Given the description of an element on the screen output the (x, y) to click on. 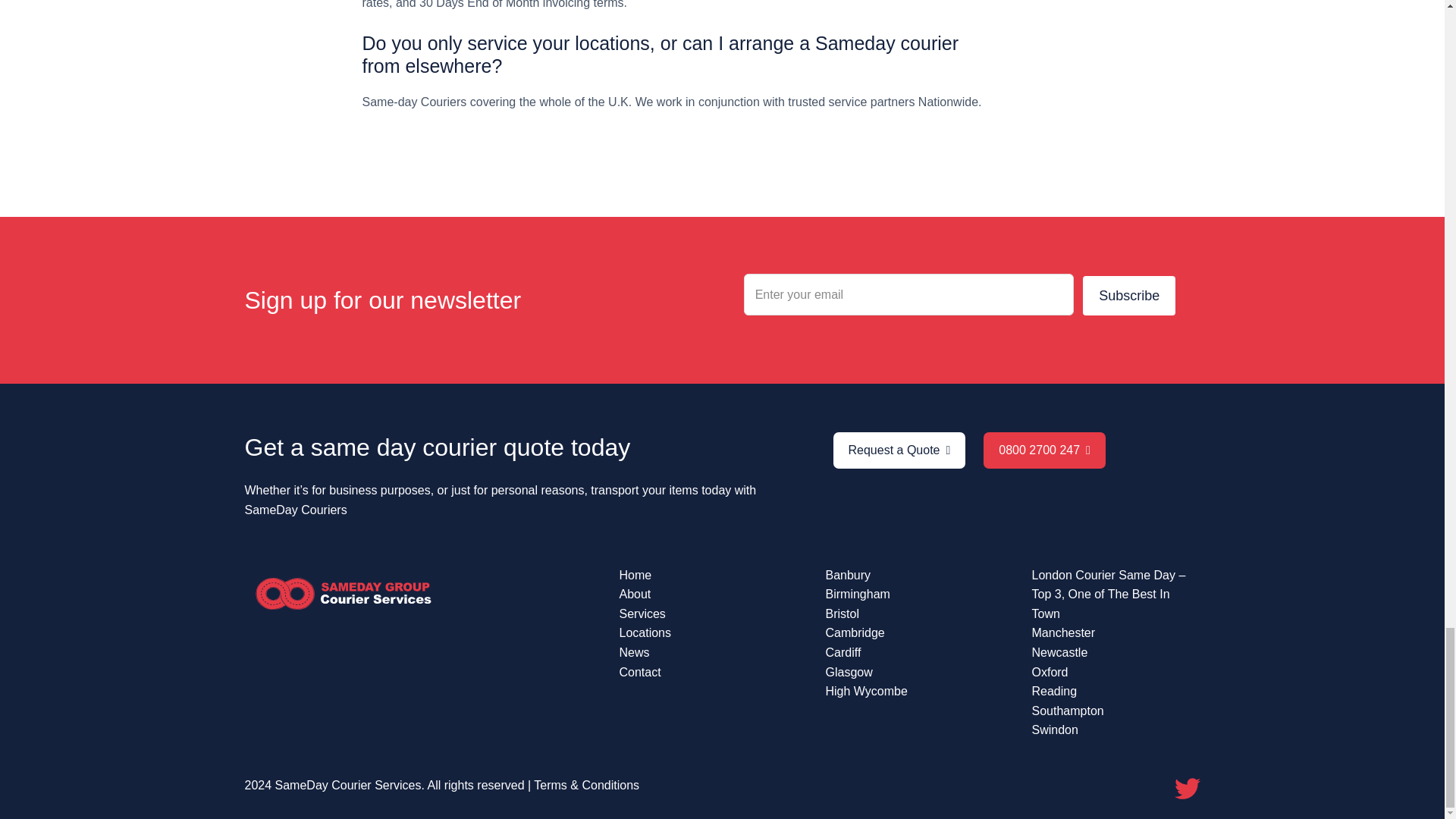
0800 2700 247 (1044, 450)
Subscribe (1128, 295)
Request a Quote (898, 450)
